Given the description of an element on the screen output the (x, y) to click on. 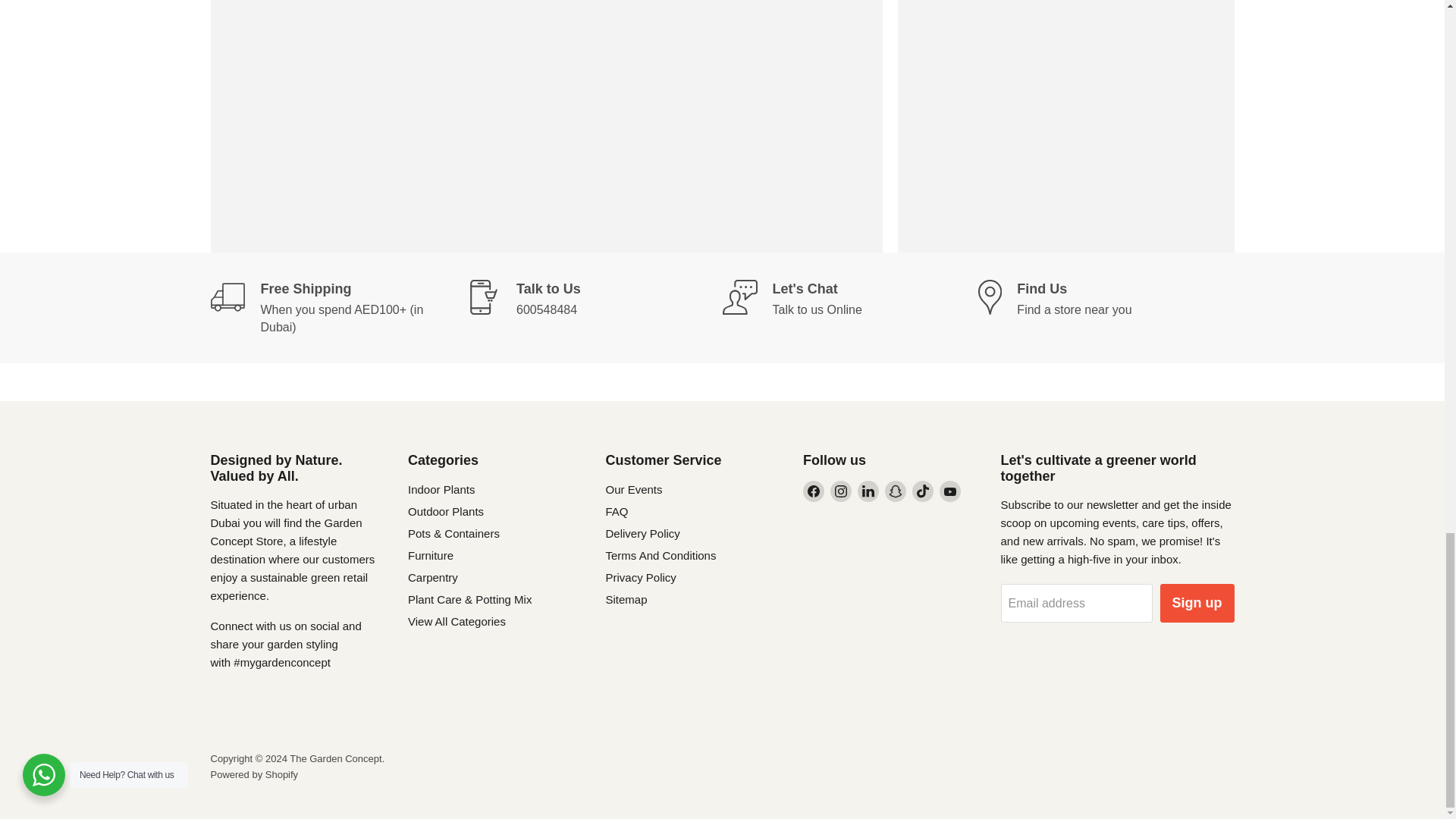
LinkedIn (868, 491)
TikTok (922, 491)
Snapchat (895, 491)
Facebook (813, 491)
YouTube (949, 491)
Instagram (840, 491)
